Given the description of an element on the screen output the (x, y) to click on. 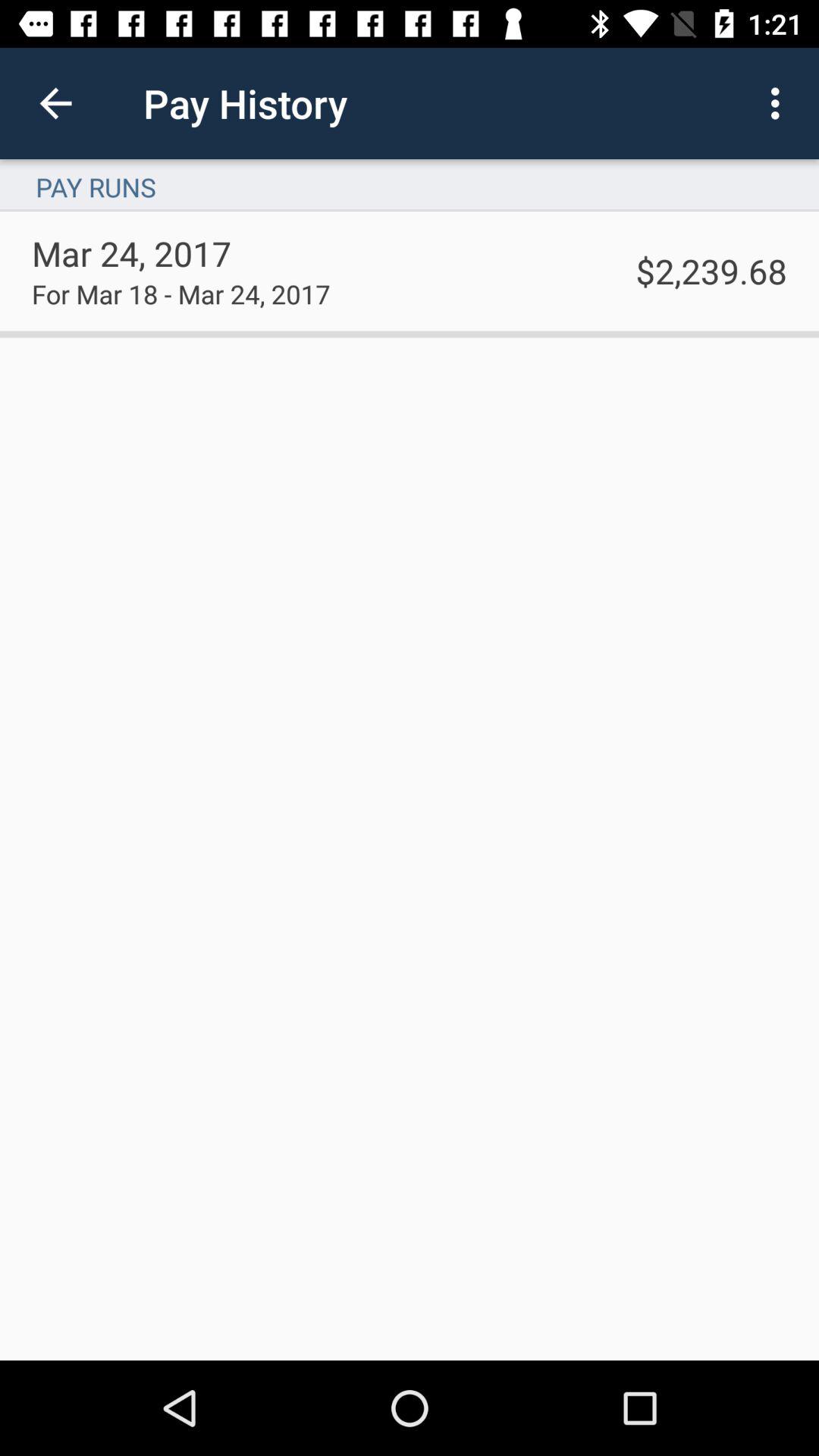
open item next to pay history (779, 103)
